Given the description of an element on the screen output the (x, y) to click on. 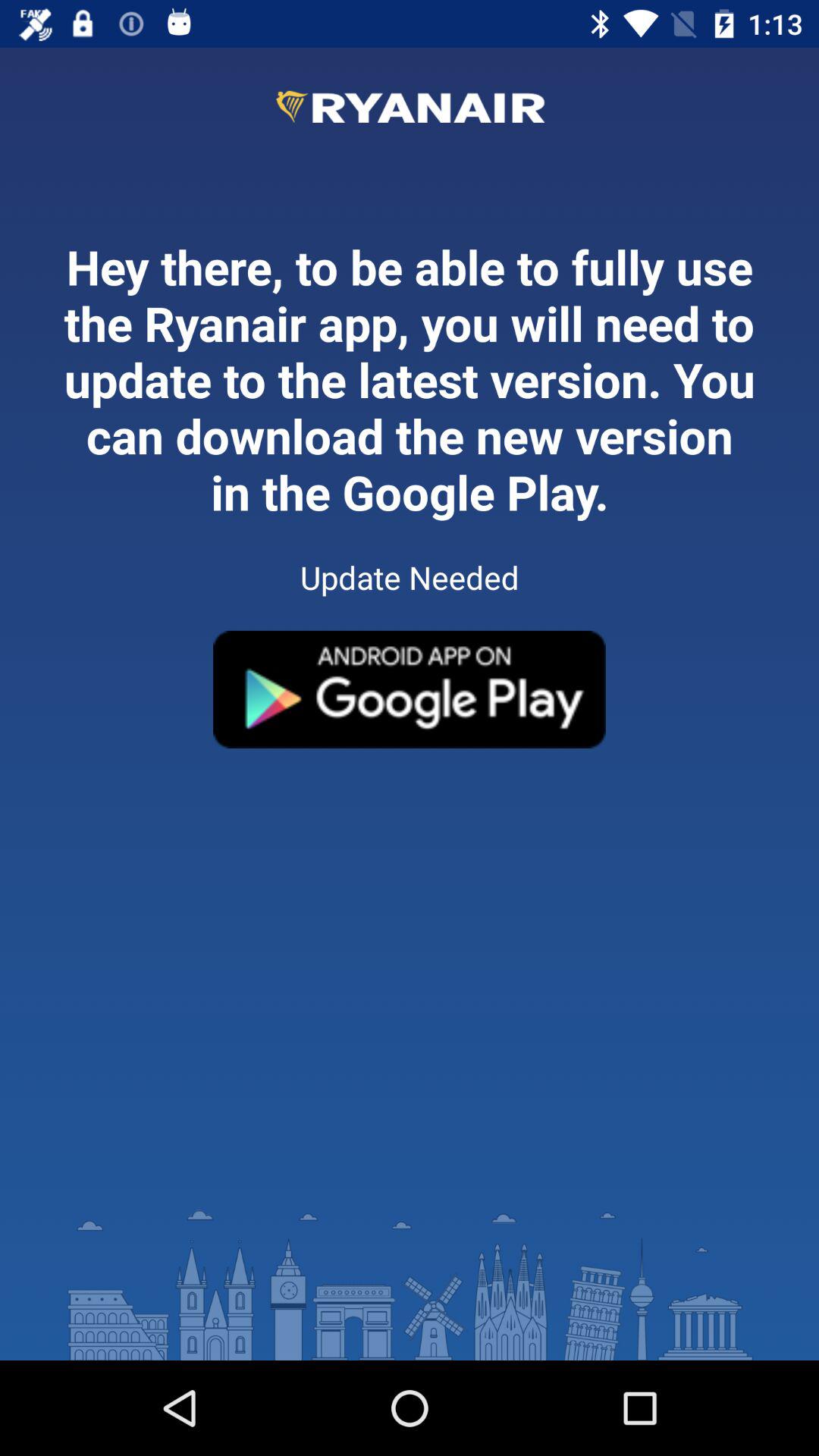
click the app below the update needed (409, 689)
